Given the description of an element on the screen output the (x, y) to click on. 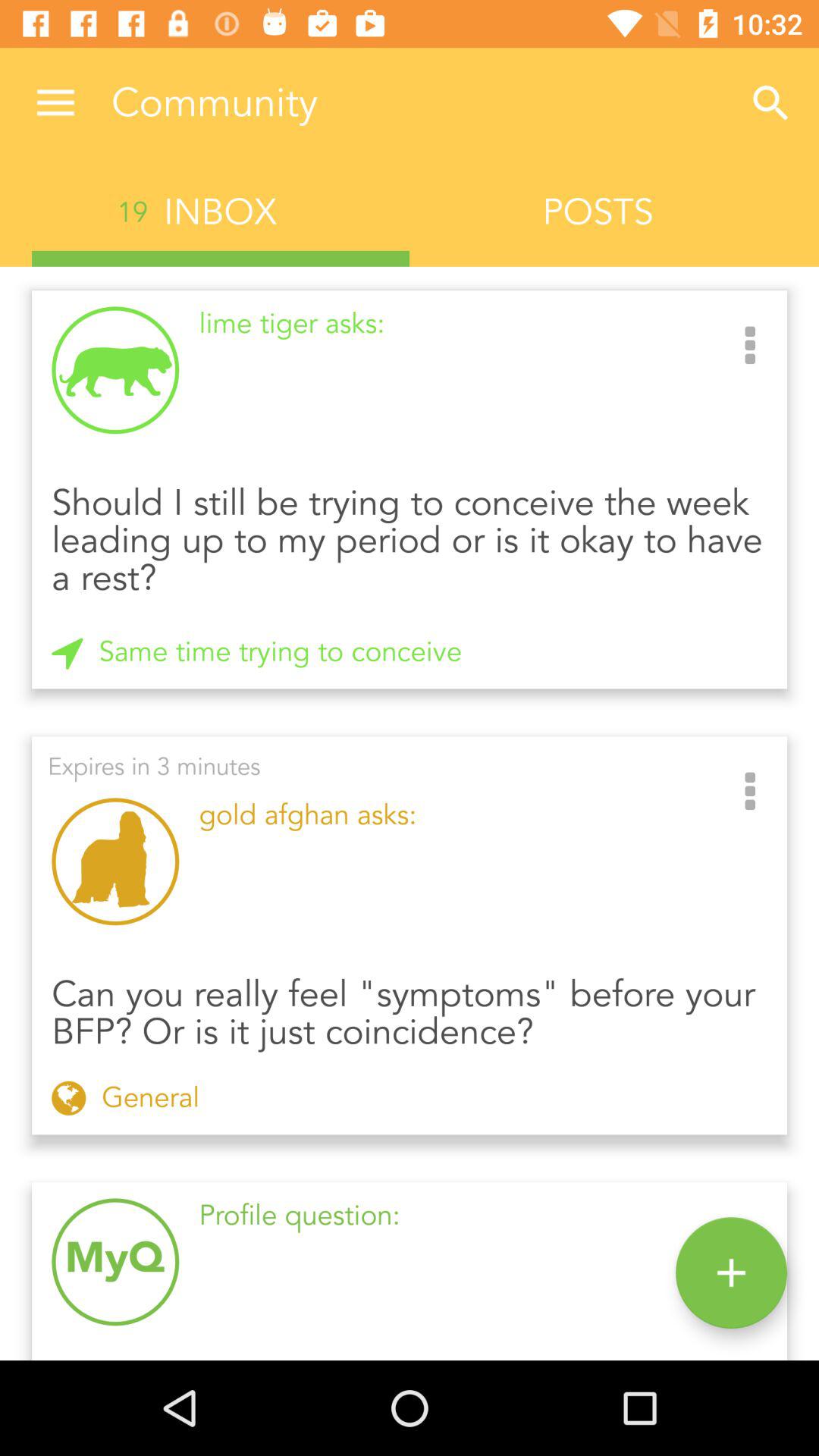
open the item to the right of gold afghan asks: item (750, 792)
